Given the description of an element on the screen output the (x, y) to click on. 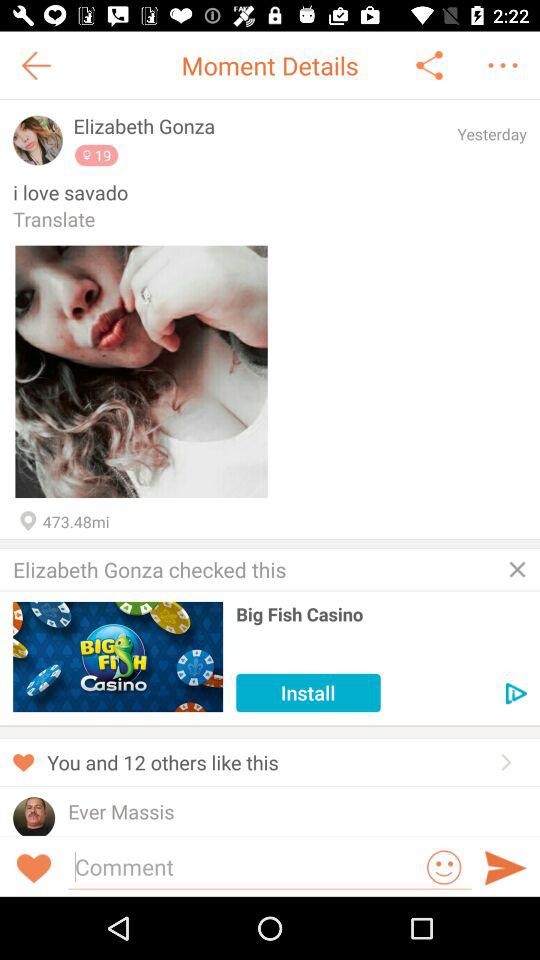
comment input area (244, 866)
